Given the description of an element on the screen output the (x, y) to click on. 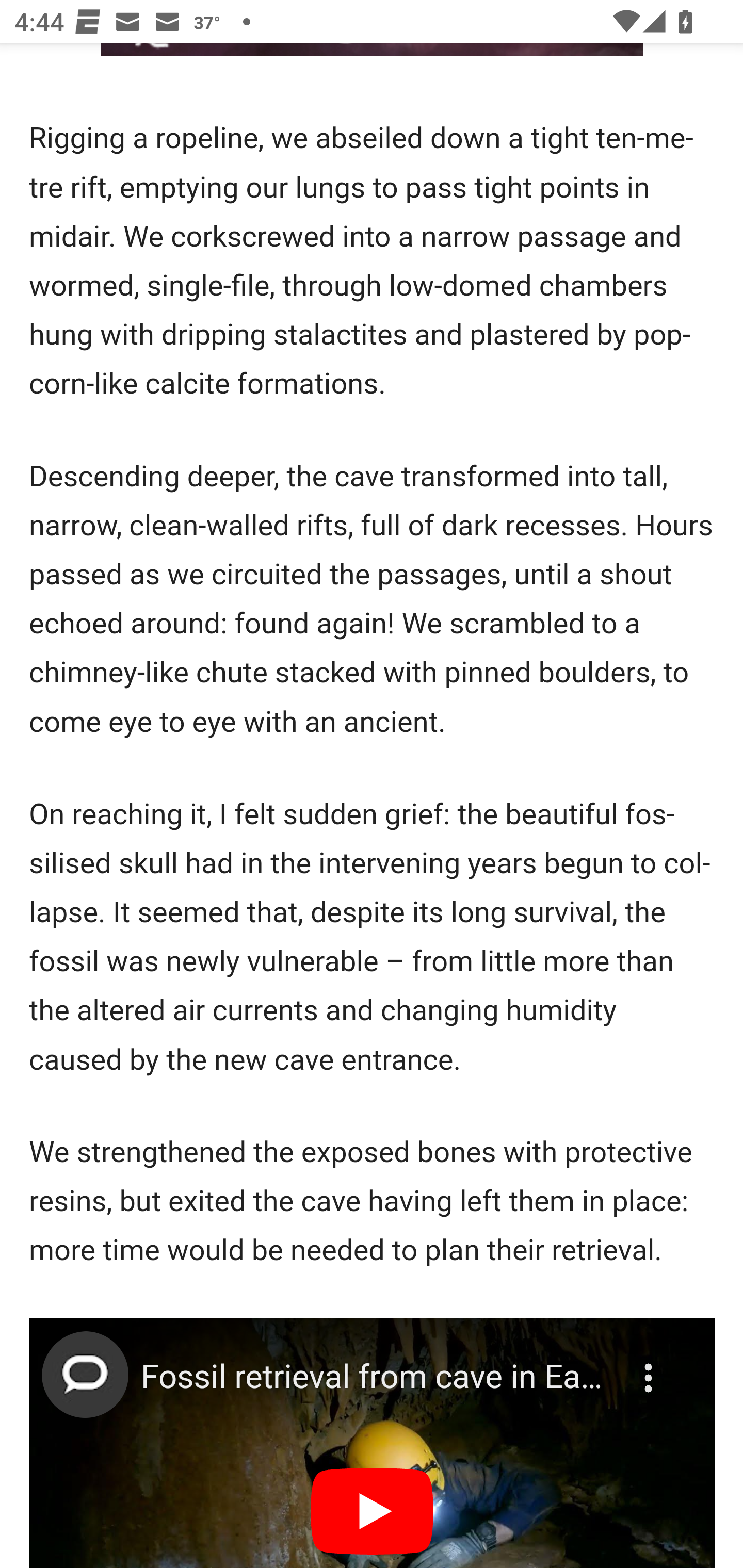
More (650, 1366)
Photo image of The Conversation (84, 1374)
Fossil retrieval from cave in East Gippsland (374, 1377)
Play (372, 1512)
